Given the description of an element on the screen output the (x, y) to click on. 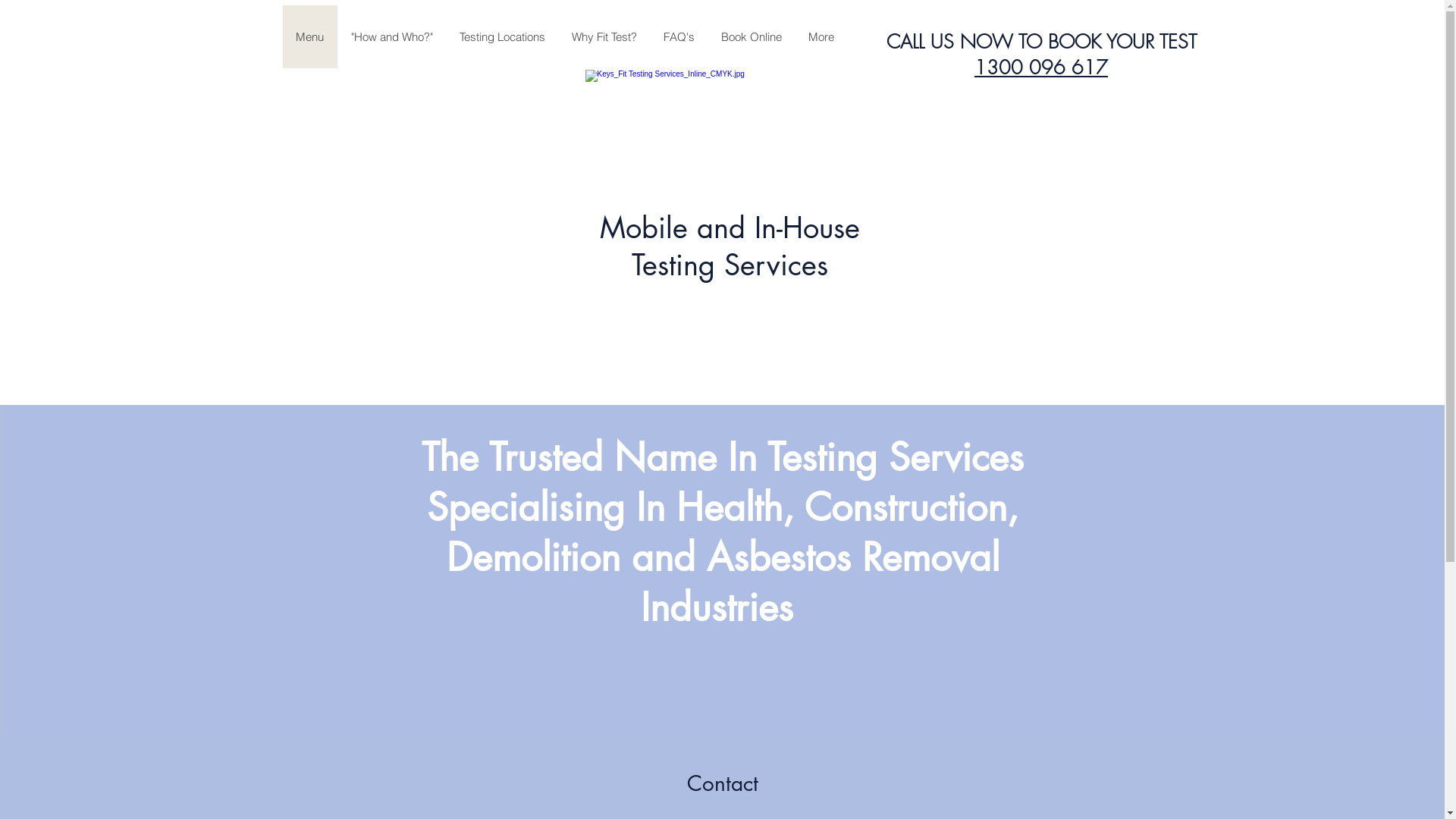
Testing Locations Element type: text (501, 36)
CALL US NOW TO BOOK YOUR TEST Element type: text (1040, 41)
Why Fit Test? Element type: text (603, 36)
Book Online Element type: text (749, 36)
FAQ's Element type: text (677, 36)
Menu Element type: text (309, 36)
1300 096 617 Element type: text (1040, 67)
"How and Who?" Element type: text (390, 36)
